Given the description of an element on the screen output the (x, y) to click on. 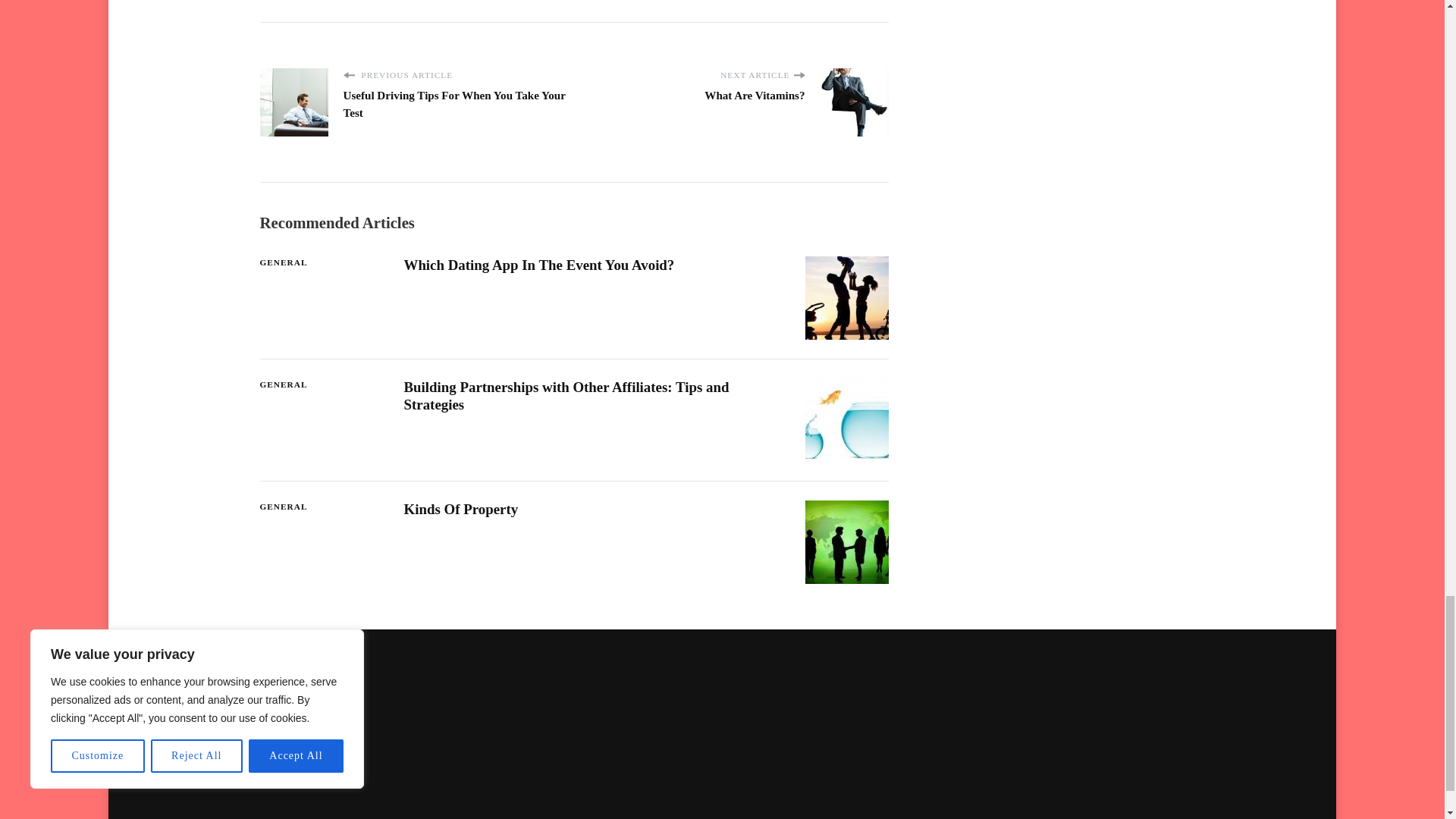
GENERAL (283, 262)
